Given the description of an element on the screen output the (x, y) to click on. 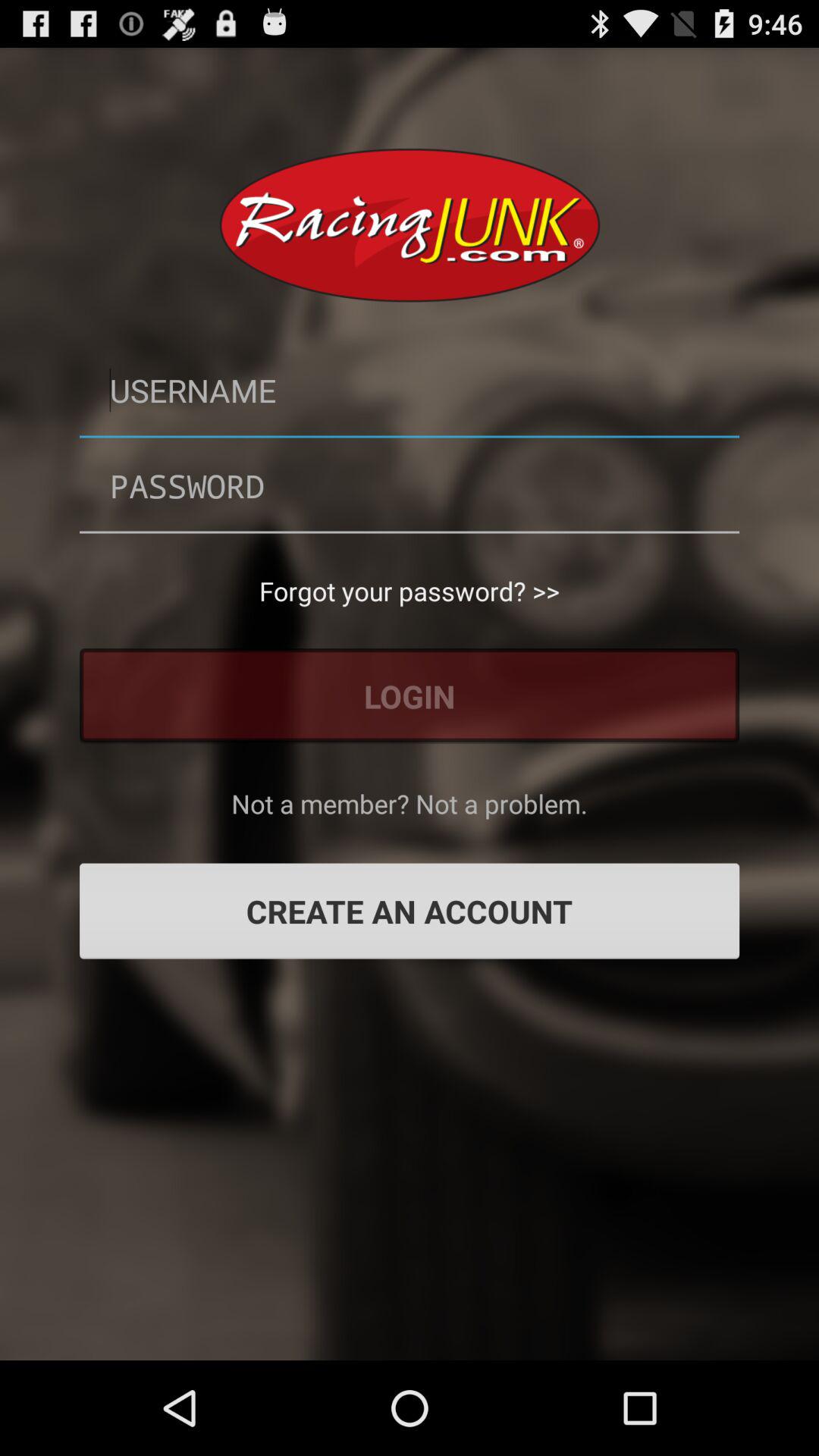
username text field (409, 389)
